Given the description of an element on the screen output the (x, y) to click on. 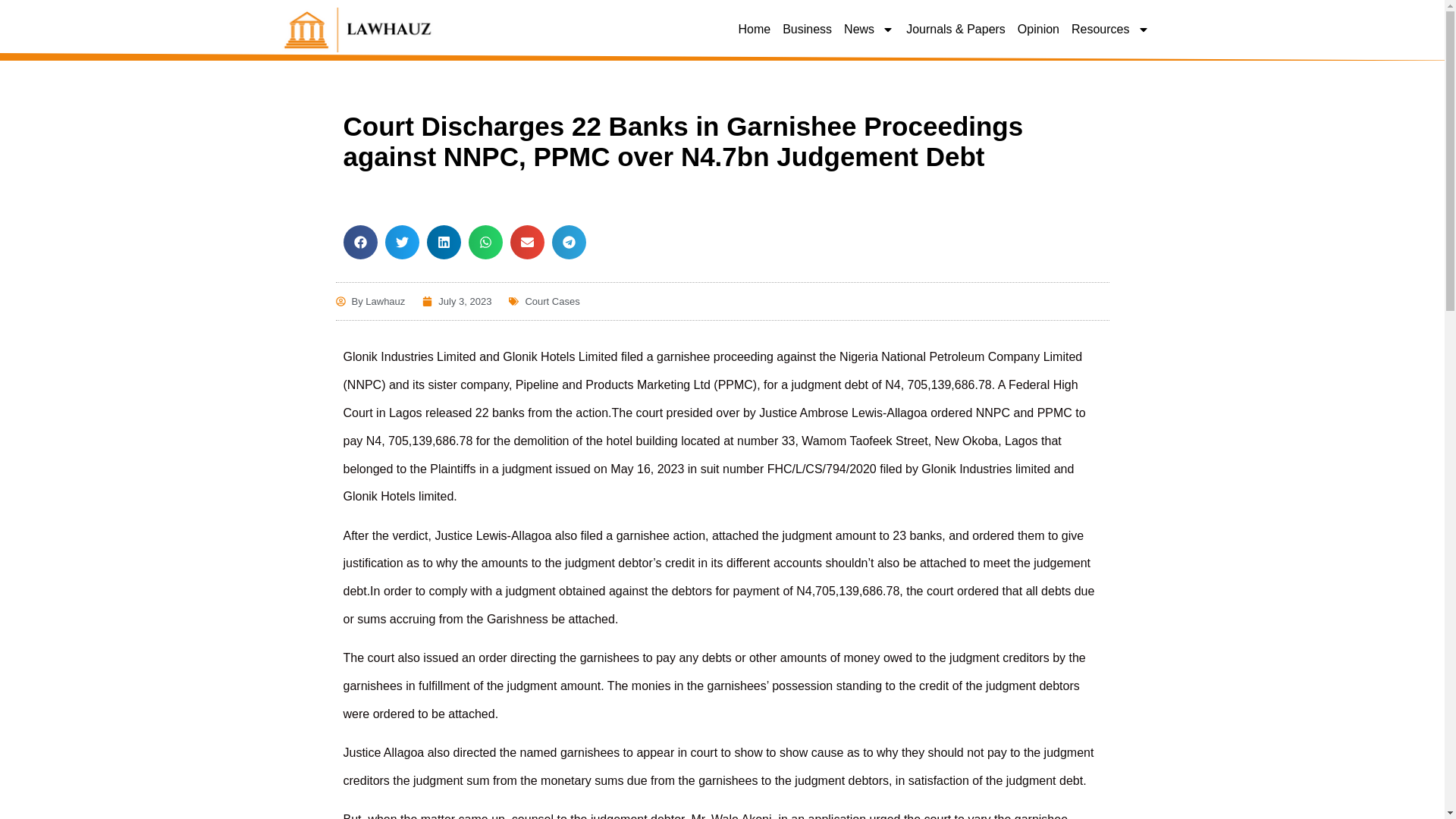
Opinion (1037, 29)
News (868, 29)
Resources (1109, 29)
Business (807, 29)
Home (754, 29)
